Given the description of an element on the screen output the (x, y) to click on. 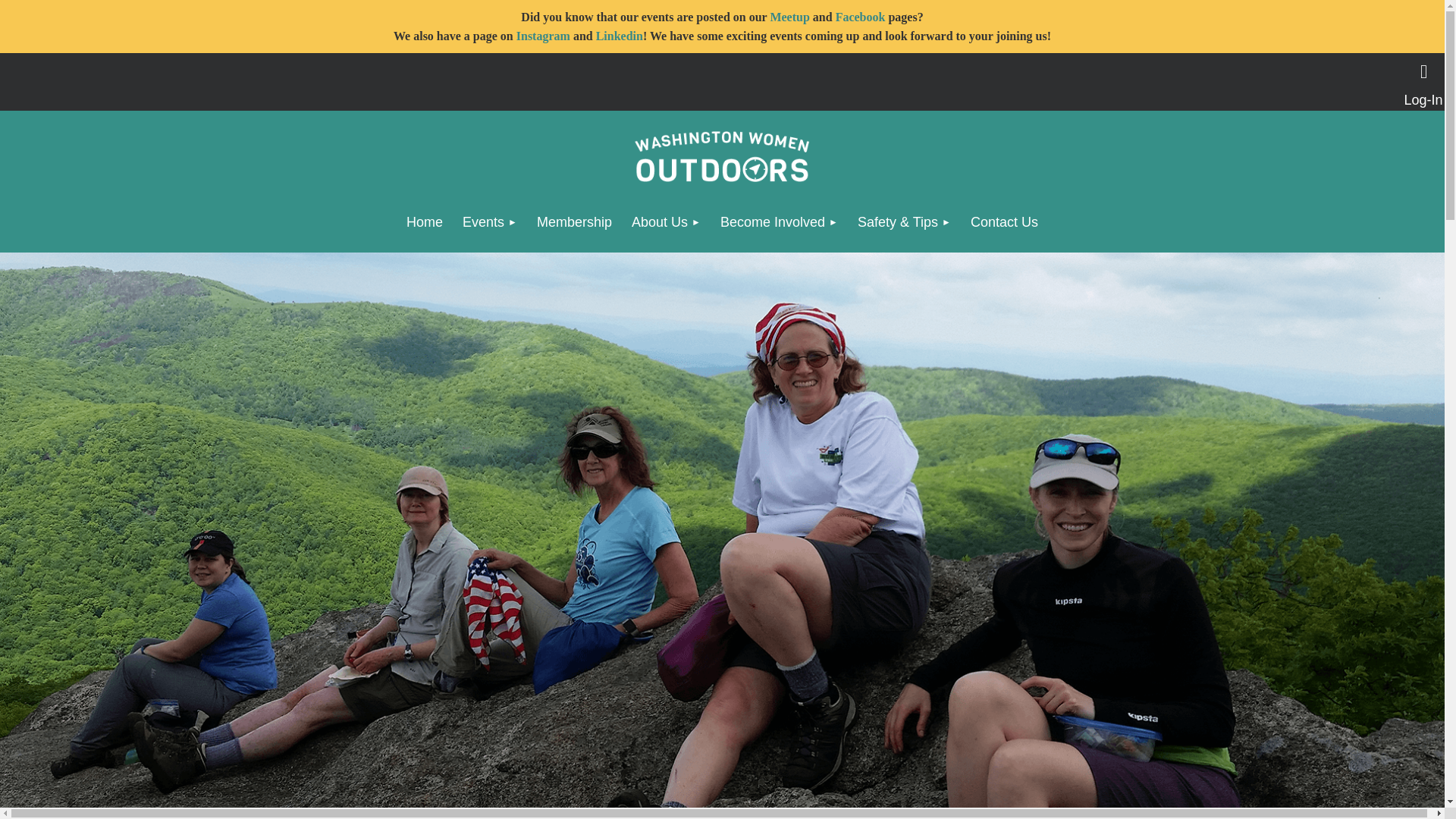
Home (424, 222)
Instagram (543, 35)
Events (489, 222)
Facebook (860, 16)
Linkedin (619, 35)
Meetup (789, 16)
Log in (1423, 71)
